Given the description of an element on the screen output the (x, y) to click on. 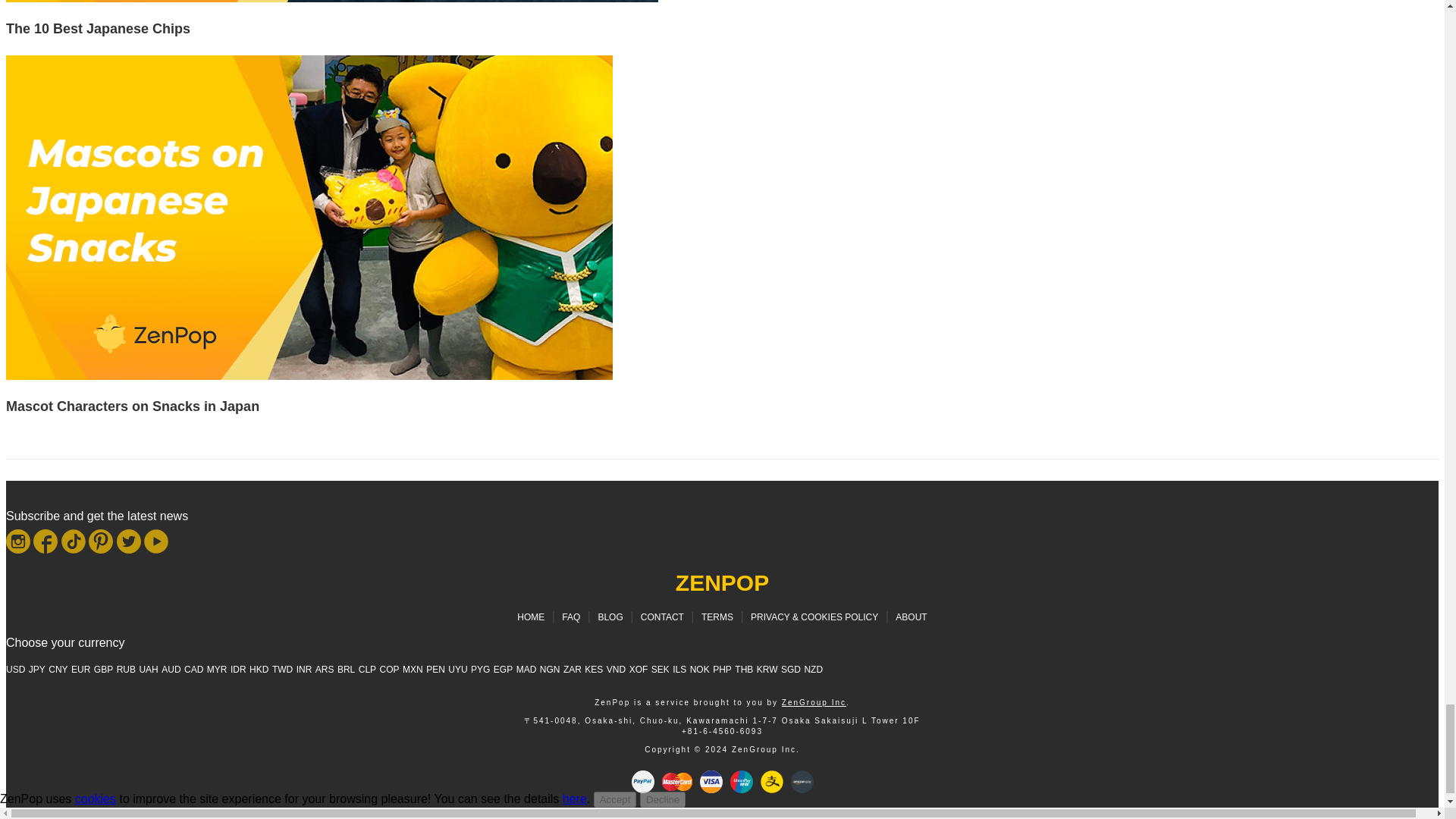
Mascot Characters on Snacks in Japan (132, 406)
Mascot Characters on Snacks in Japan (308, 375)
The 10 Best Japanese Chips (97, 28)
The 10 Best Japanese Chips (97, 28)
